Given the description of an element on the screen output the (x, y) to click on. 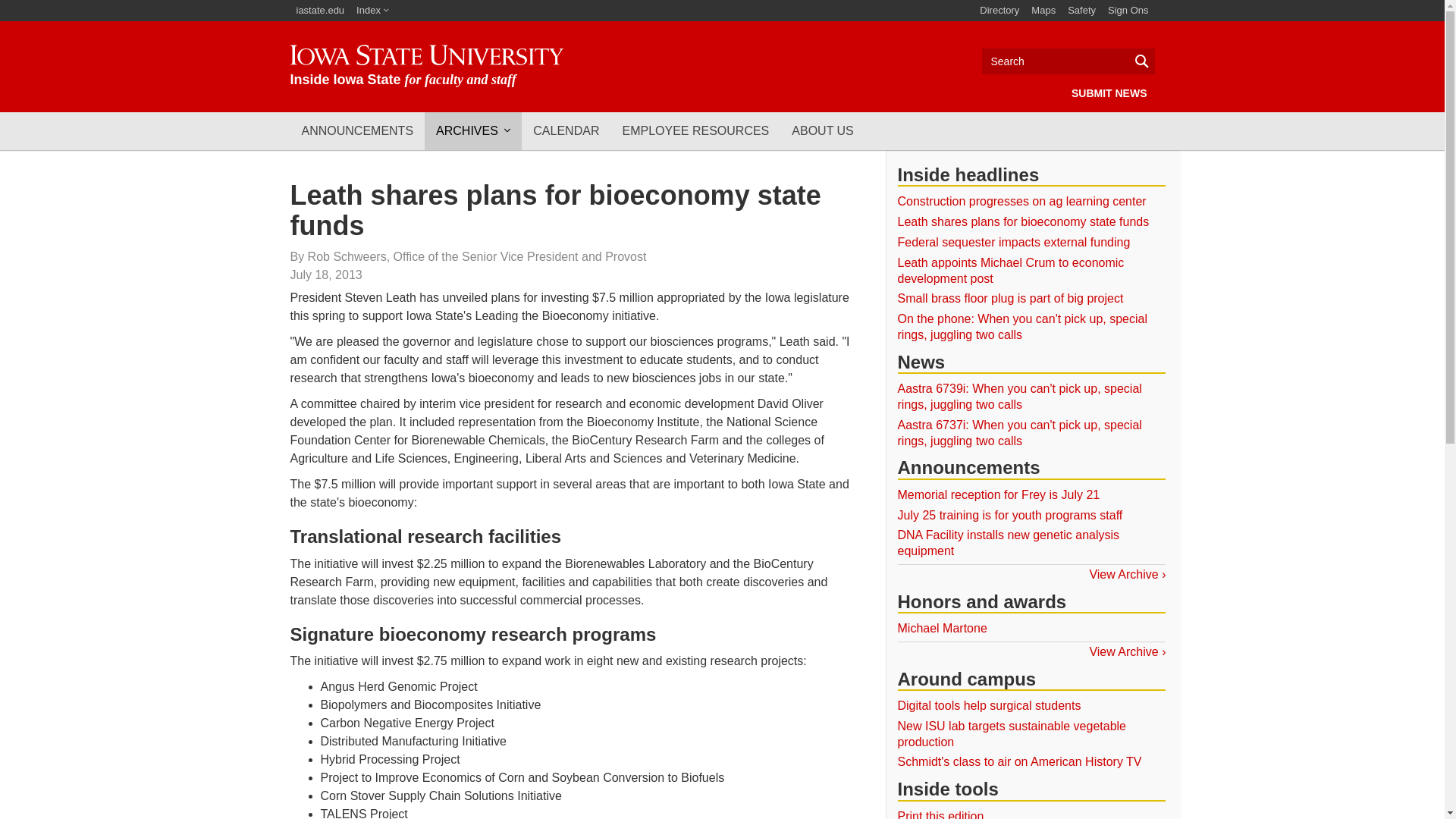
Directory (999, 10)
Sign Ons (1128, 10)
ARCHIVES (473, 130)
Safety (1081, 10)
SUBMIT NEWS (1109, 93)
Search (1067, 61)
iastate.edu (319, 10)
ANNOUNCEMENTS (357, 130)
Home (425, 66)
Index (372, 10)
Maps (1043, 10)
